Given the description of an element on the screen output the (x, y) to click on. 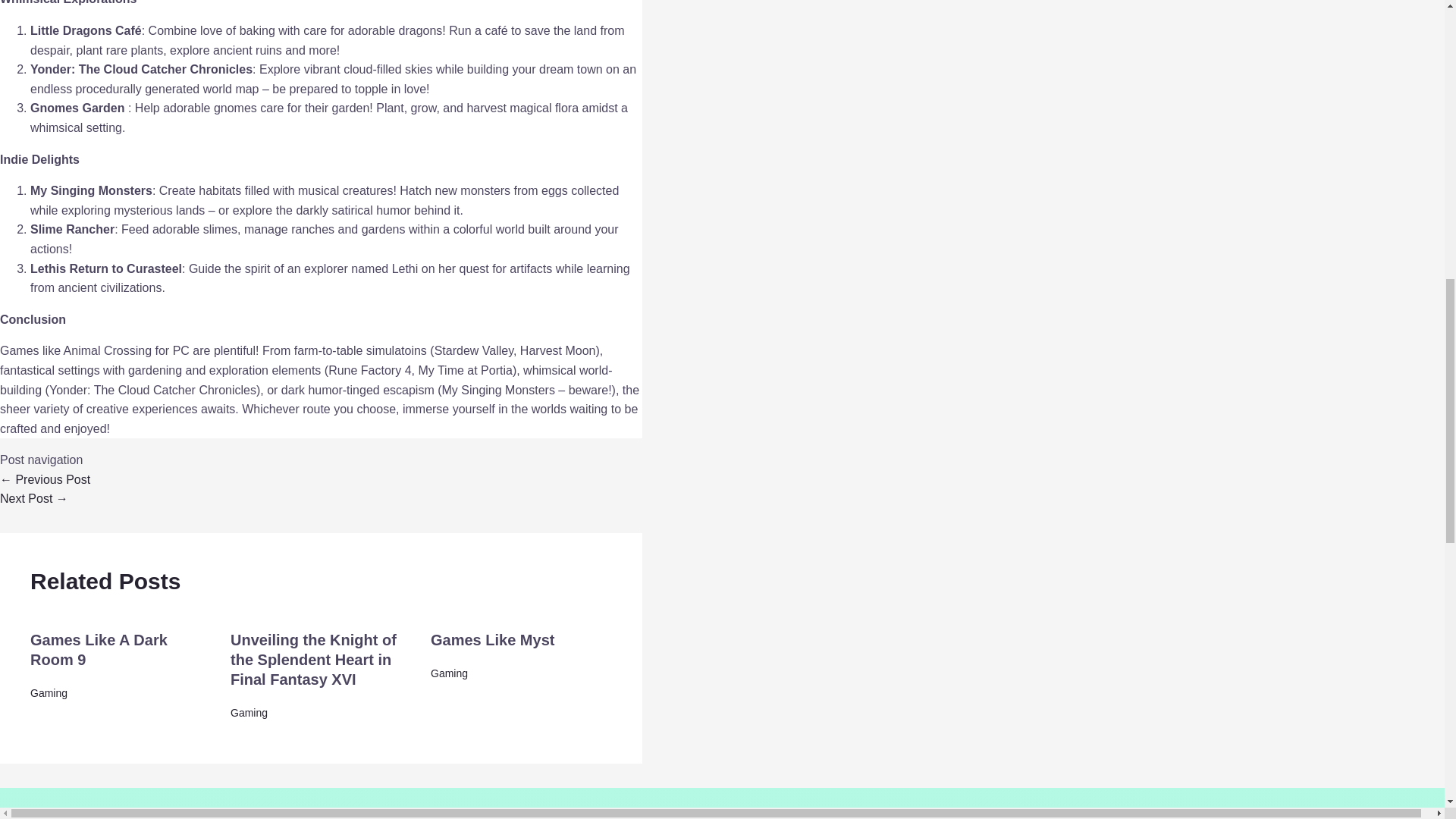
Is Genshin Impact On Xbox? (45, 479)
Gaming (448, 673)
Games Like Myst (492, 639)
How To Program Directv Remote (34, 498)
Gaming (248, 712)
Games Like A Dark Room 9 (98, 649)
Gaming (48, 693)
